Given the description of an element on the screen output the (x, y) to click on. 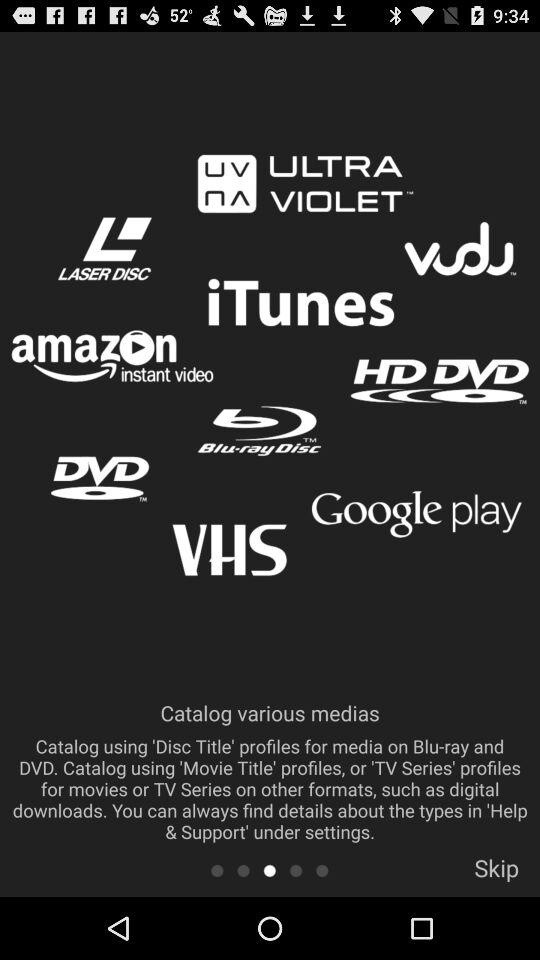
go to slide 5 (321, 870)
